Given the description of an element on the screen output the (x, y) to click on. 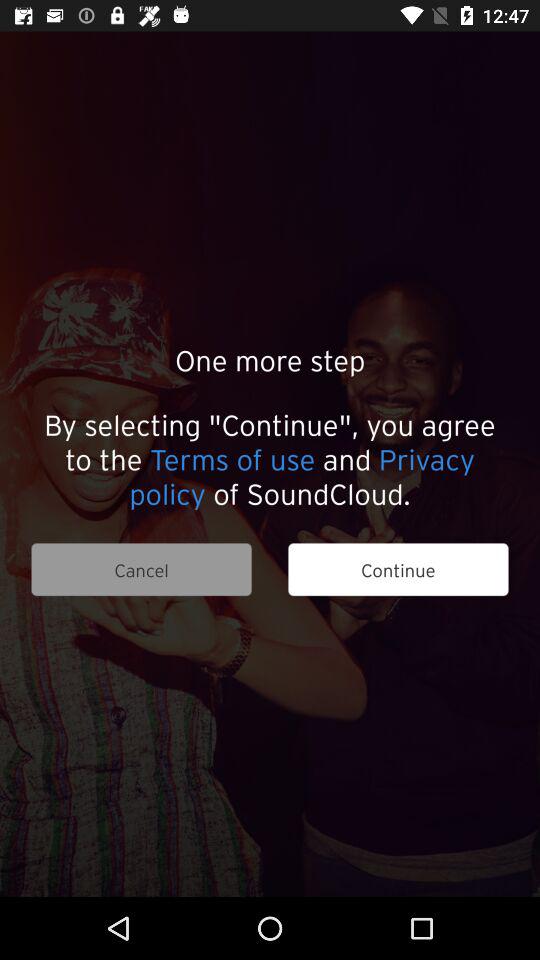
press the item below by selecting continue icon (141, 569)
